Given the description of an element on the screen output the (x, y) to click on. 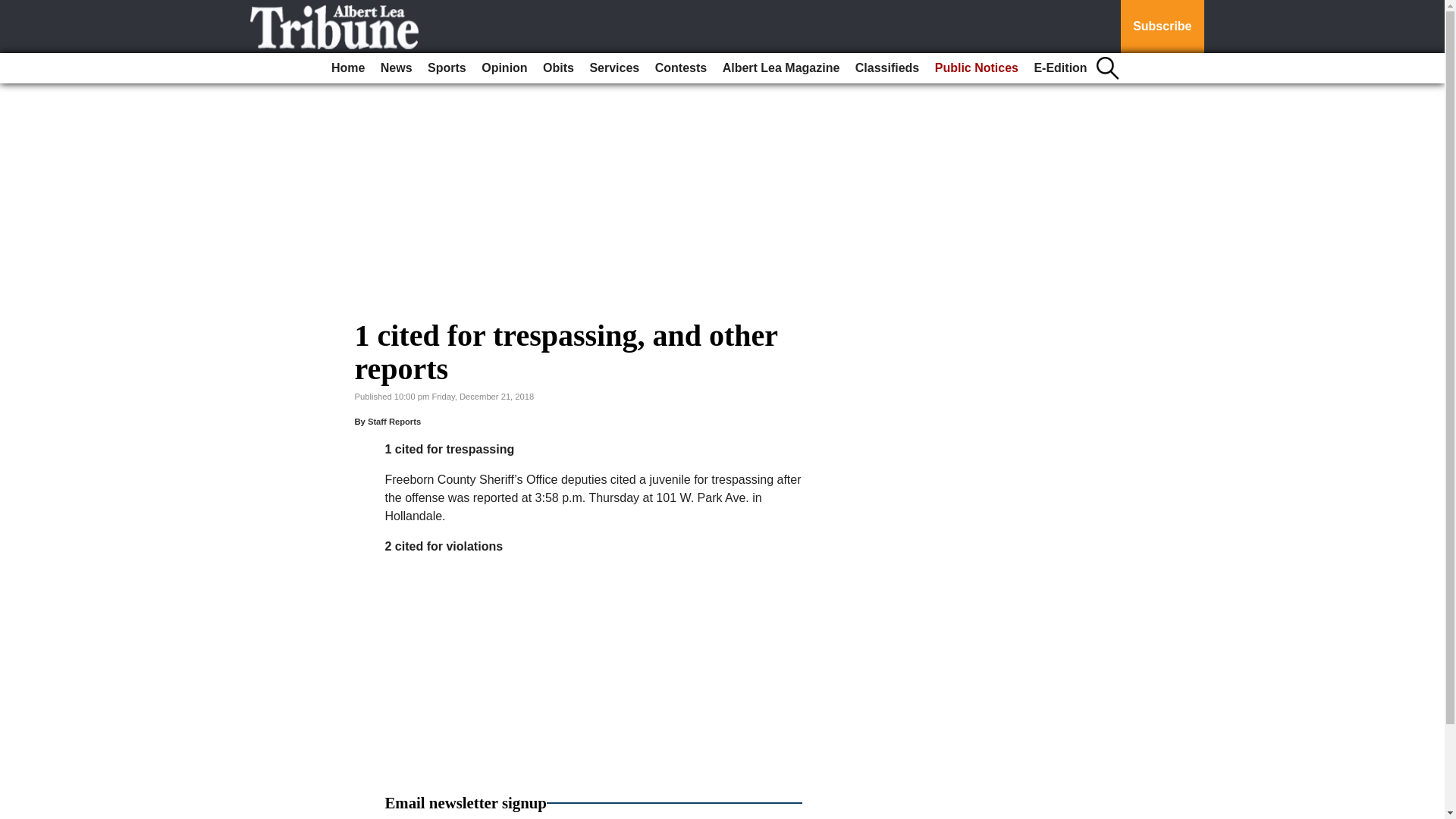
News (396, 68)
Sports (446, 68)
Opinion (504, 68)
Subscribe (1162, 26)
Home (347, 68)
Obits (558, 68)
Services (614, 68)
